Given the description of an element on the screen output the (x, y) to click on. 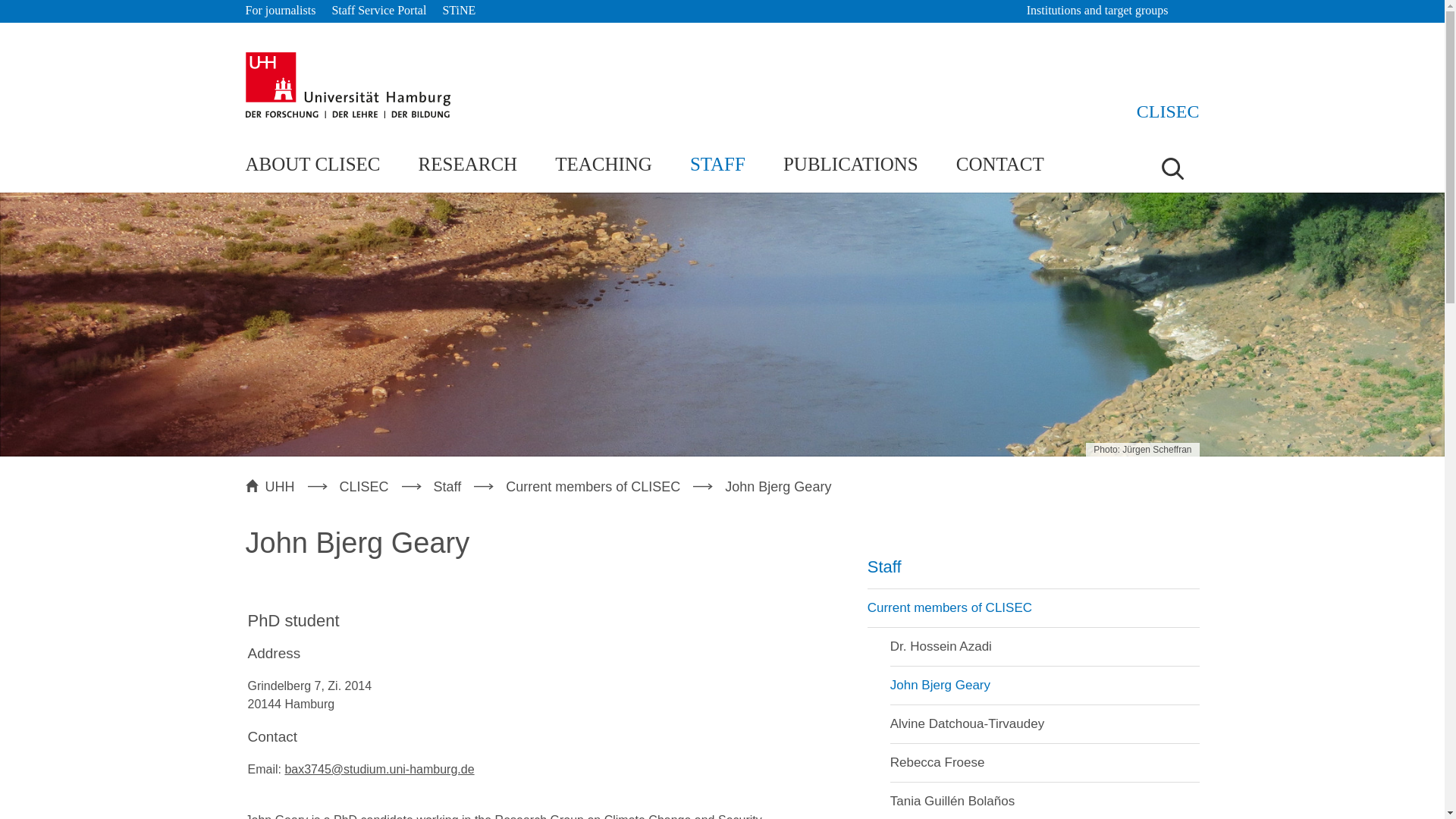
Home (347, 84)
STiNE (459, 11)
For journalists (280, 11)
Staff Service Portal (378, 11)
Page logo: Home (1168, 111)
Institutions and target groups (1104, 11)
